Given the description of an element on the screen output the (x, y) to click on. 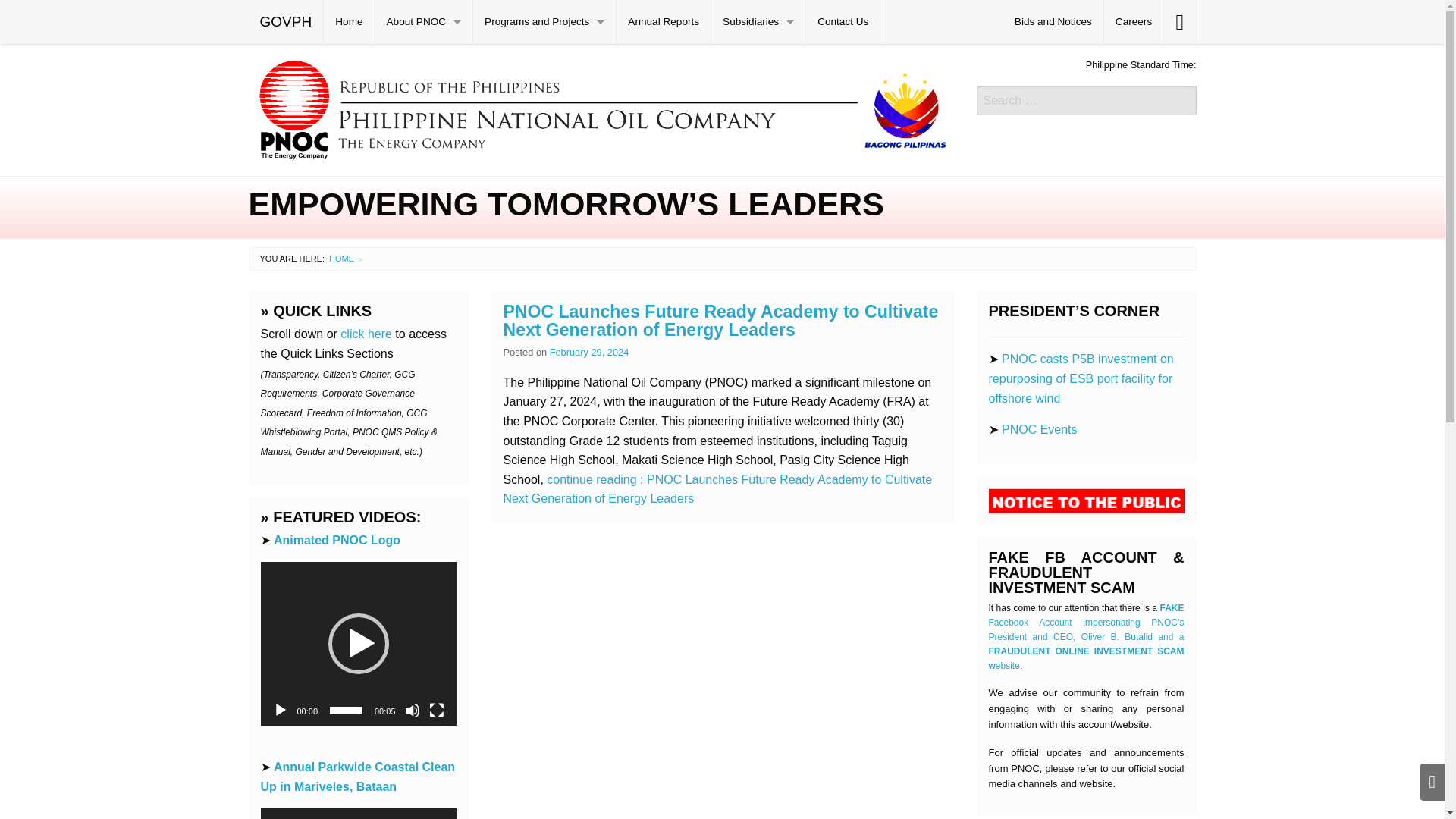
Mute (412, 710)
Fullscreen (436, 710)
Search for: (1086, 100)
GOVPH (285, 22)
PNOC (600, 107)
About PNOC (424, 22)
Play (280, 710)
Home (348, 22)
4:06 pm (589, 351)
